Given the description of an element on the screen output the (x, y) to click on. 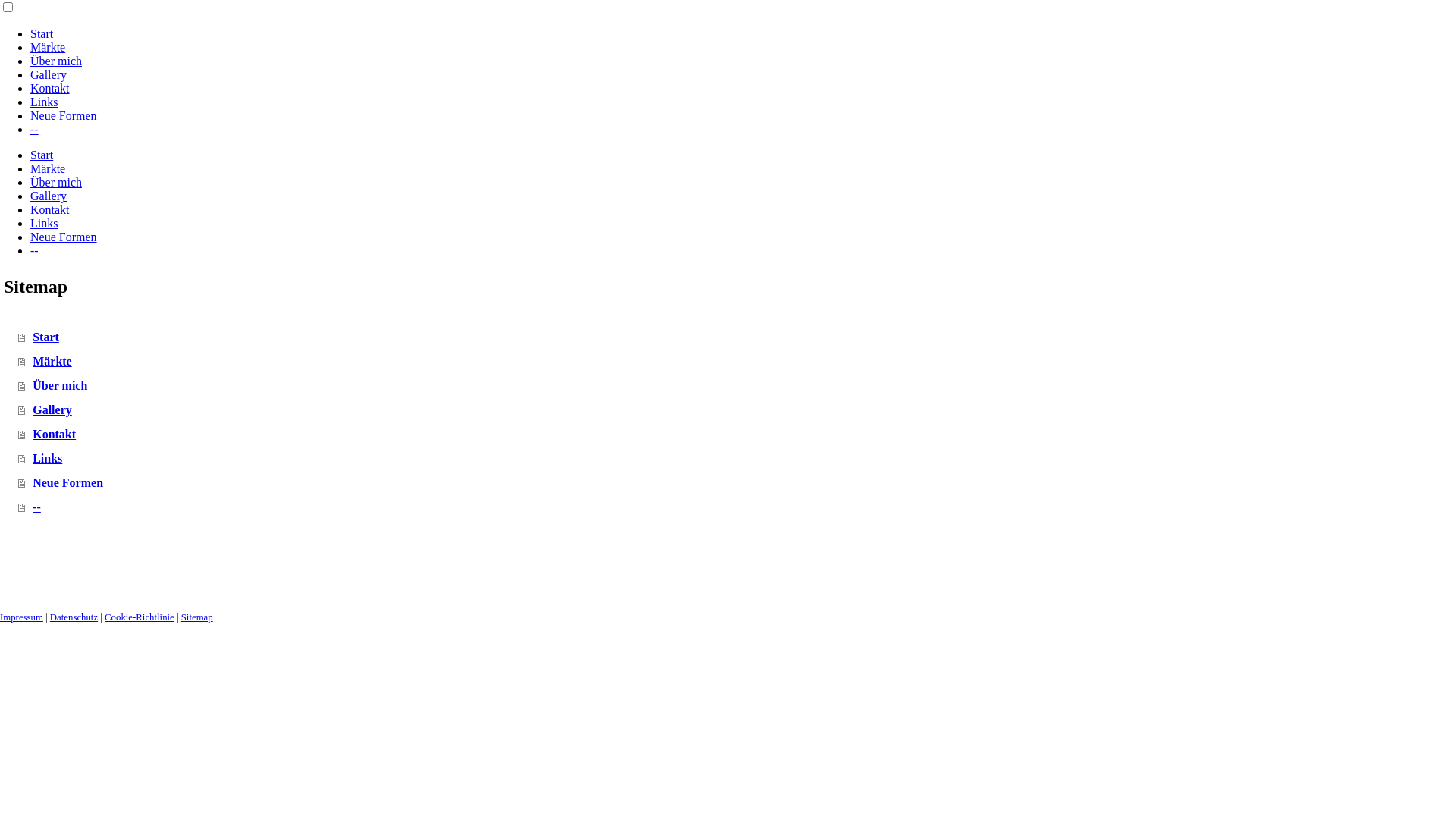
Neue Formen Element type: text (63, 236)
Links Element type: text (43, 222)
Gallery Element type: text (48, 74)
-- Element type: text (34, 128)
-- Element type: text (34, 250)
Start Element type: text (41, 33)
Datenschutz Element type: text (73, 616)
Impressum Element type: text (21, 616)
Neue Formen Element type: text (63, 115)
Sitemap Element type: text (197, 616)
Cookie-Richtlinie Element type: text (139, 616)
Gallery Element type: text (48, 195)
Kontakt Element type: text (49, 209)
Kontakt Element type: text (49, 87)
Start Element type: text (41, 154)
Links Element type: text (43, 101)
